Given the description of an element on the screen output the (x, y) to click on. 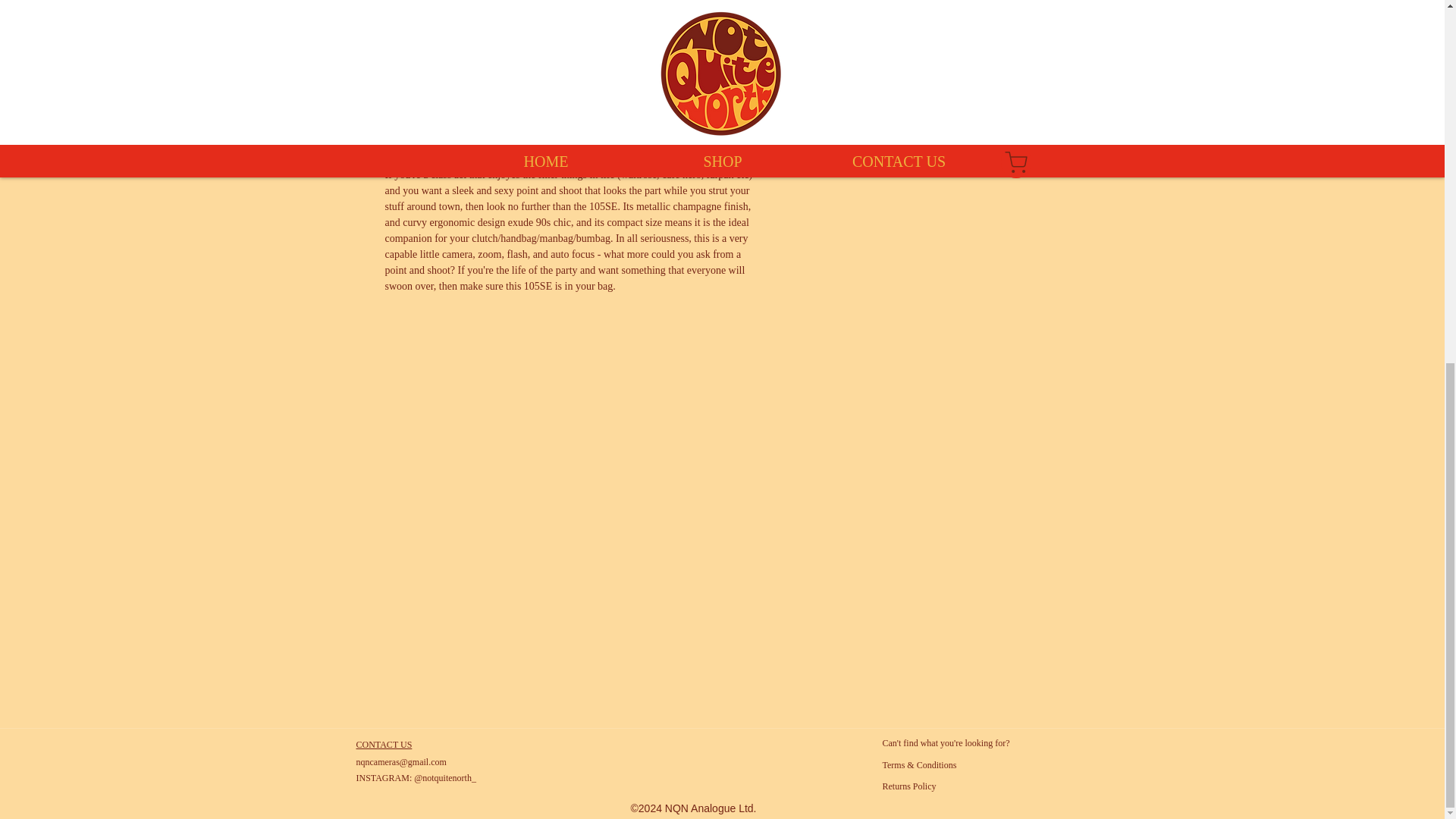
Can't find what you're looking for? (946, 742)
SHIPPING INFO (924, 98)
CONTACT US (384, 744)
Returns Policy (909, 786)
